Given the description of an element on the screen output the (x, y) to click on. 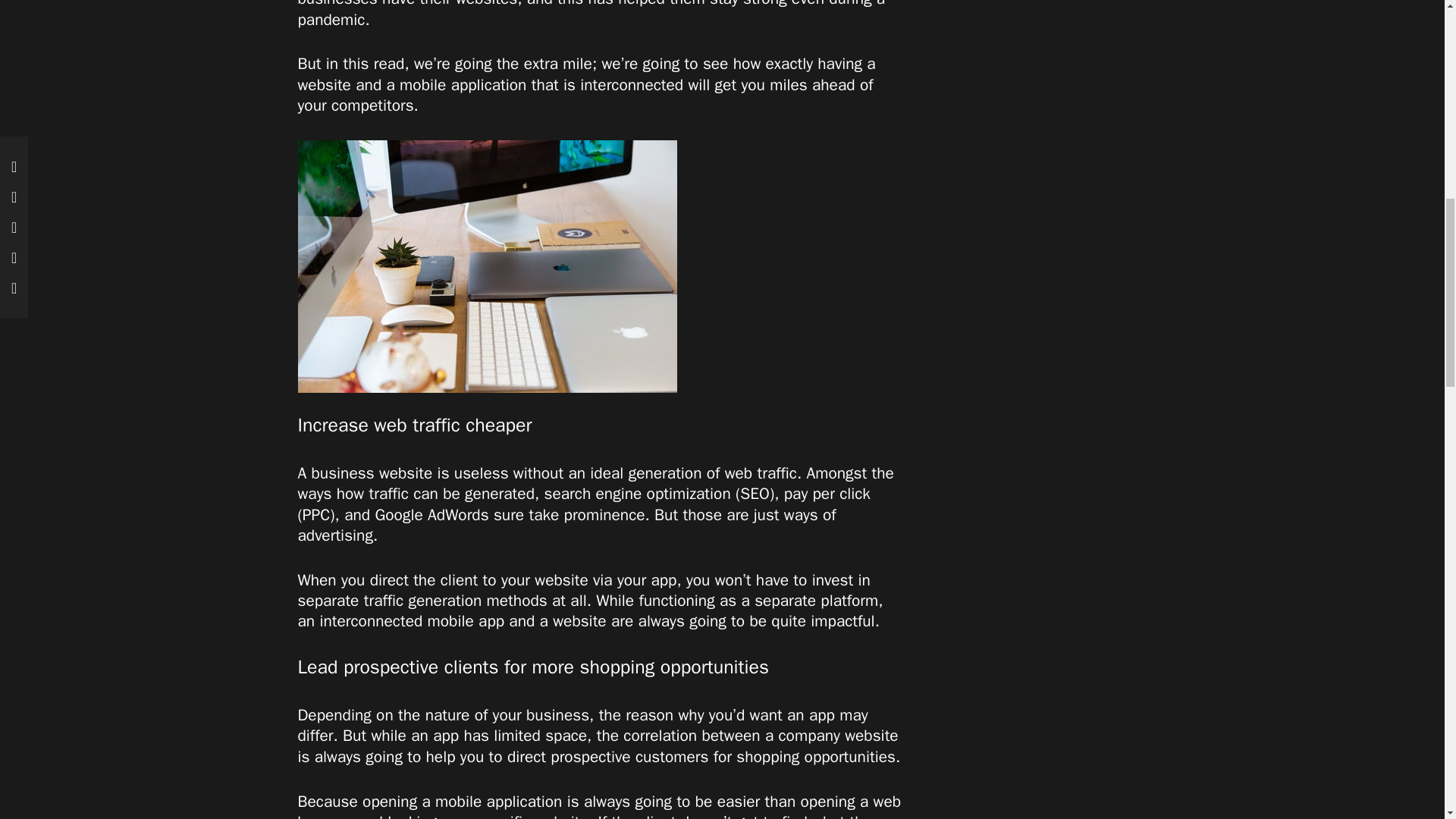
generation (444, 600)
